Given the description of an element on the screen output the (x, y) to click on. 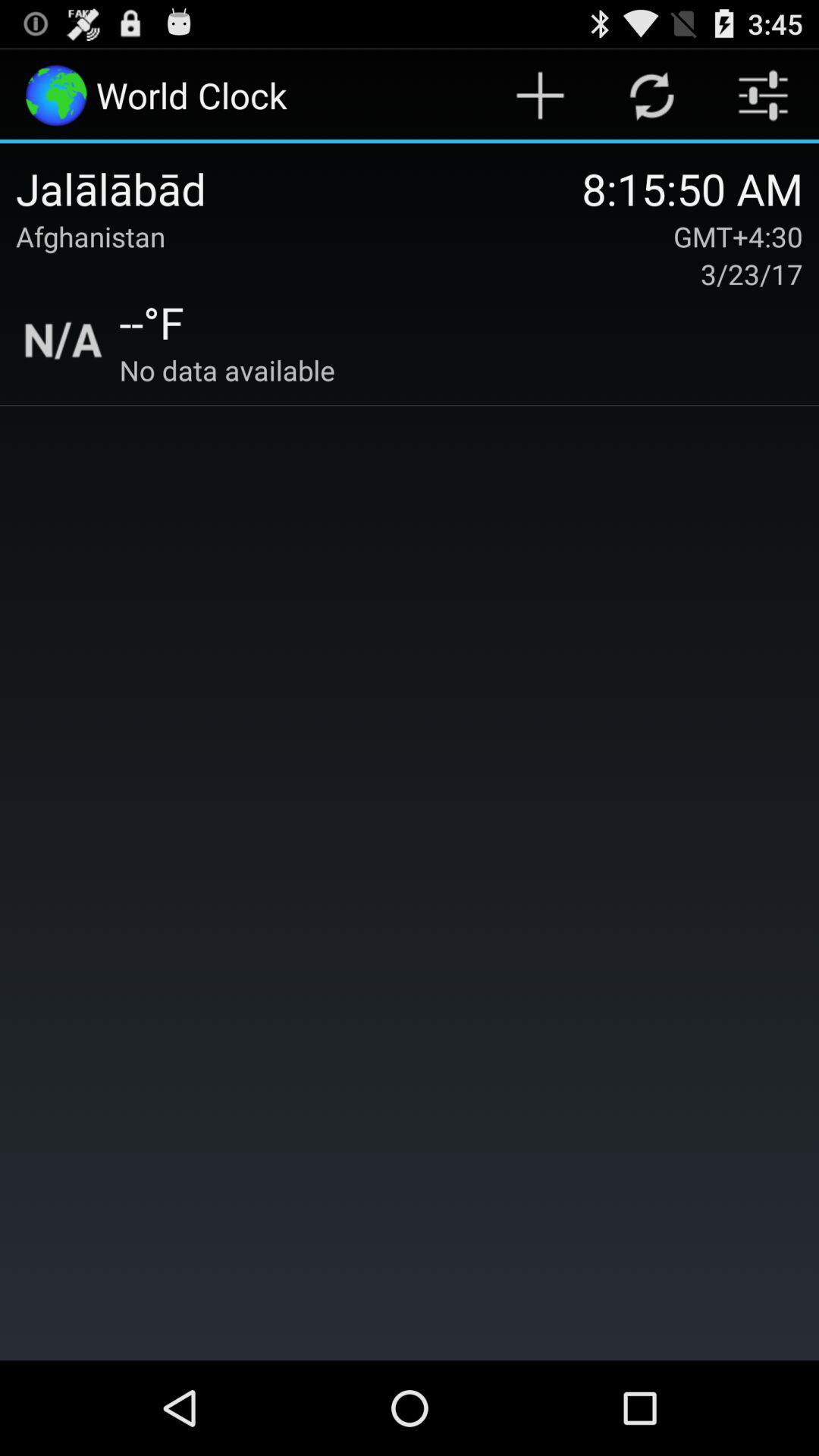
tap the icon below afghanistan (63, 340)
